Given the description of an element on the screen output the (x, y) to click on. 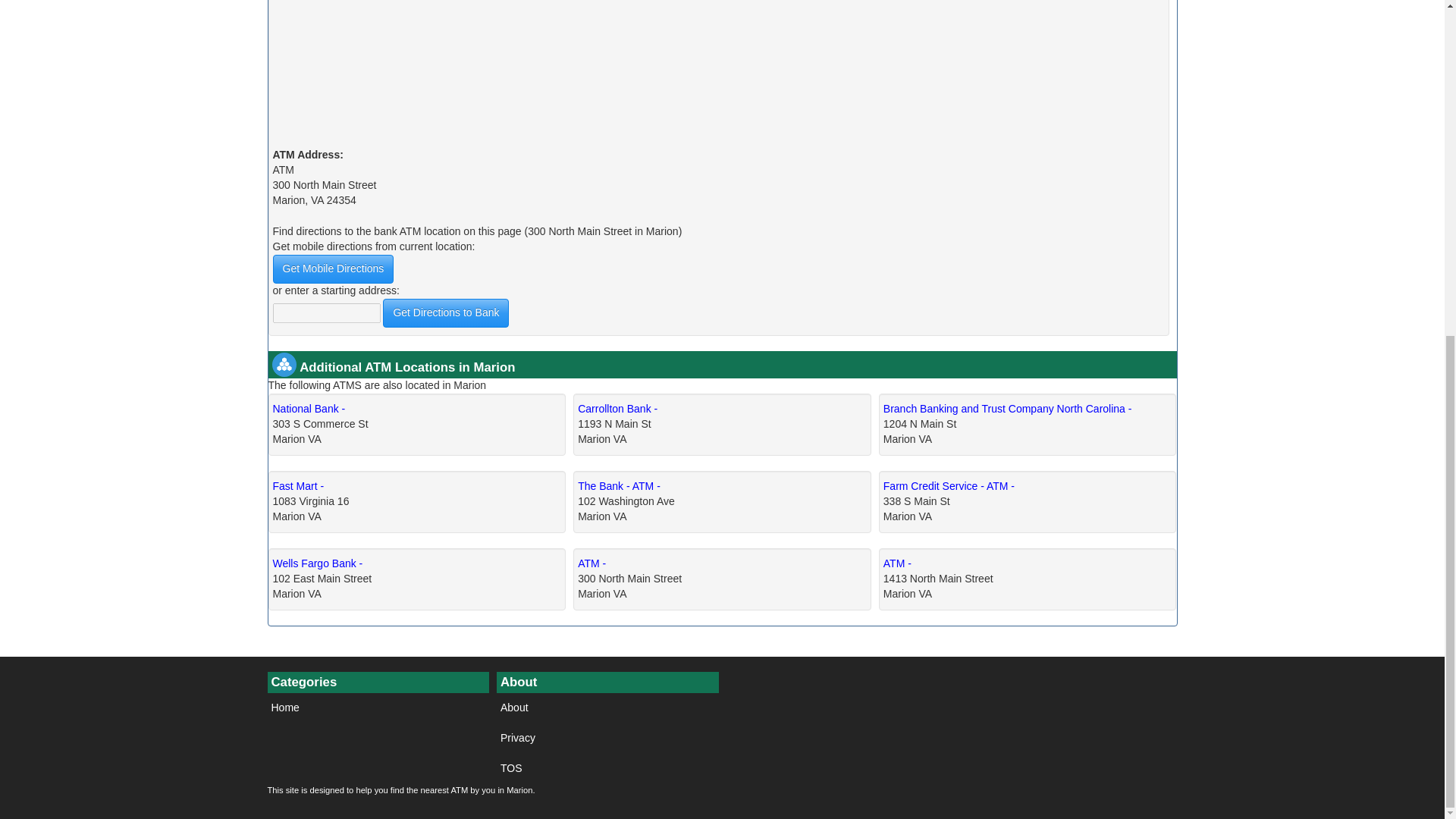
Get Directions to Bank (445, 312)
Wells Fargo Bank - (317, 563)
Home (377, 707)
Branch Banking and Trust Company North Carolina - (1007, 408)
About (607, 707)
National Bank - (309, 408)
Carrollton Bank - (618, 408)
The Bank - ATM - (619, 485)
Get Mobile Directions (333, 268)
Advertisement (718, 74)
Get Directions to Bank (445, 312)
Get Mobile Directions (333, 268)
Farm Credit Service - ATM - (948, 485)
Privacy (607, 738)
TOS (607, 768)
